Given the description of an element on the screen output the (x, y) to click on. 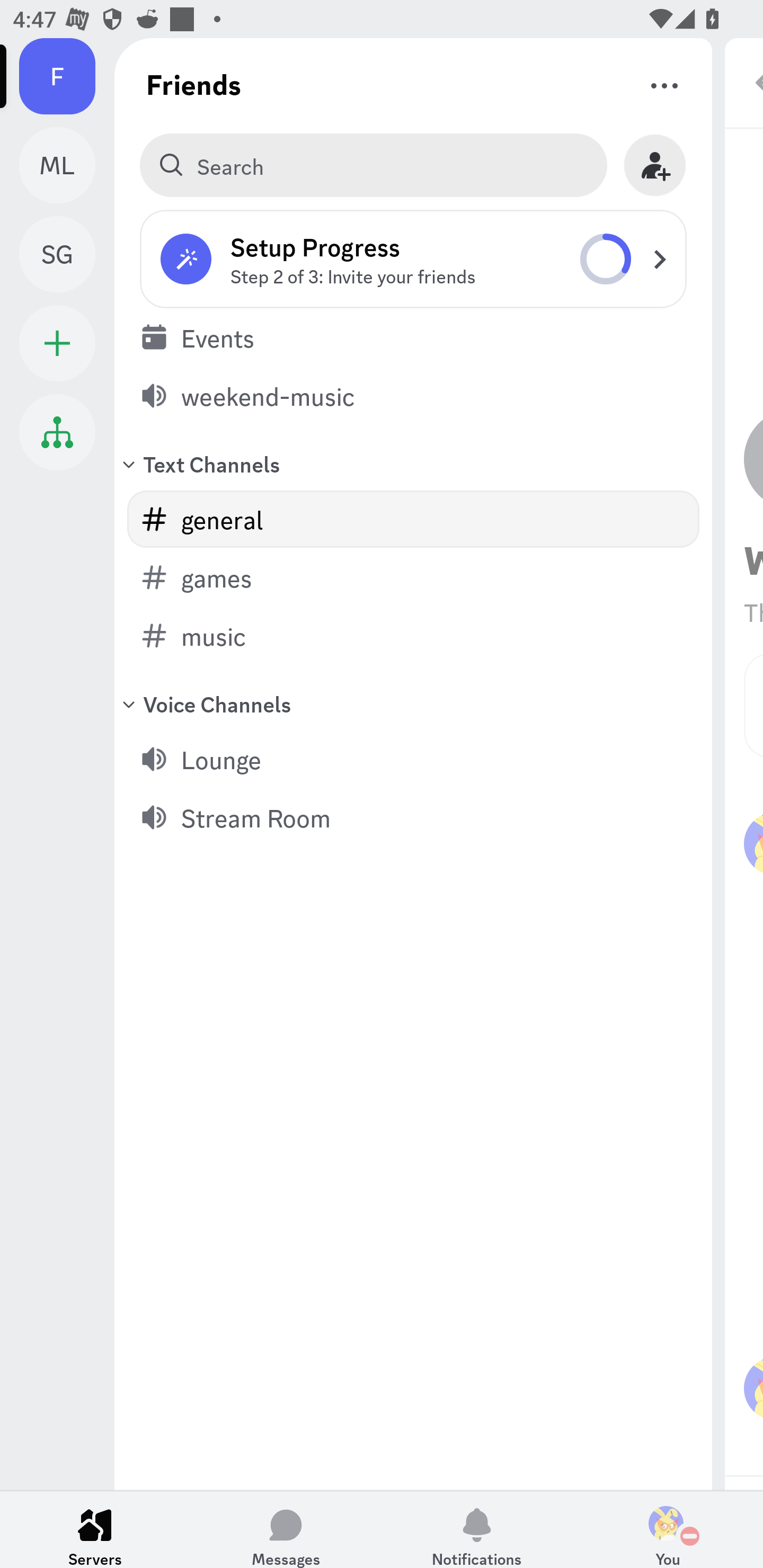
  Friends F (66, 75)
Friends (193, 83)
  Music Lovers ML (66, 165)
Search (373, 165)
Invite (654, 165)
  Study Group SG (66, 253)
Add a Server (57, 343)
Events (413, 336)
Student Hub (57, 431)
Text Channels (412, 462)
general (text channel) general (413, 518)
games (text channel) games (413, 576)
music (text channel) music (413, 635)
Voice Channels (412, 702)
Lounge (voice channel), 0 users Lounge (413, 758)
Stream Room (voice channel), 0 users Stream Room (413, 817)
Servers (95, 1529)
